Given the description of an element on the screen output the (x, y) to click on. 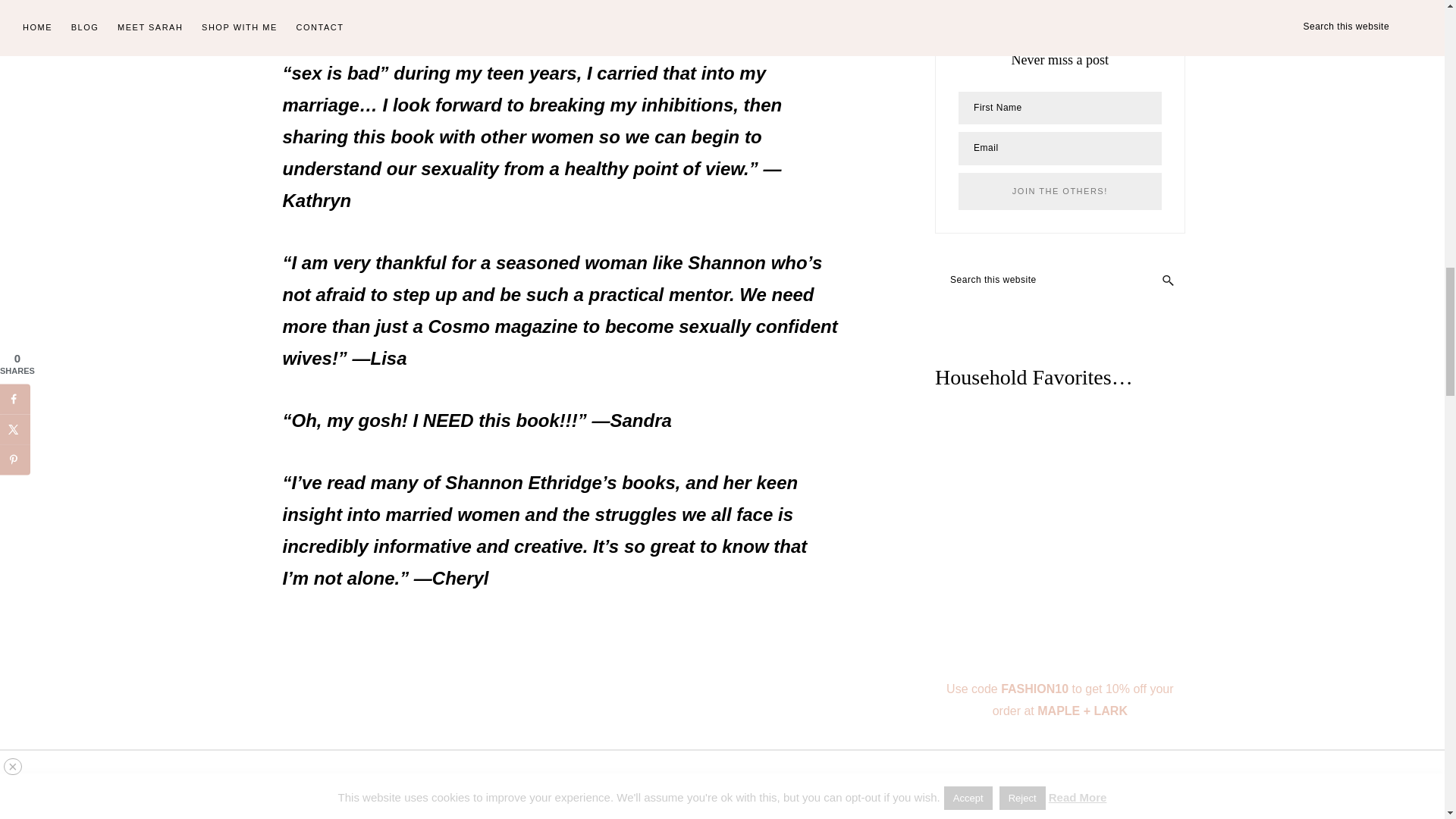
Join the Others! (1059, 190)
